Given the description of an element on the screen output the (x, y) to click on. 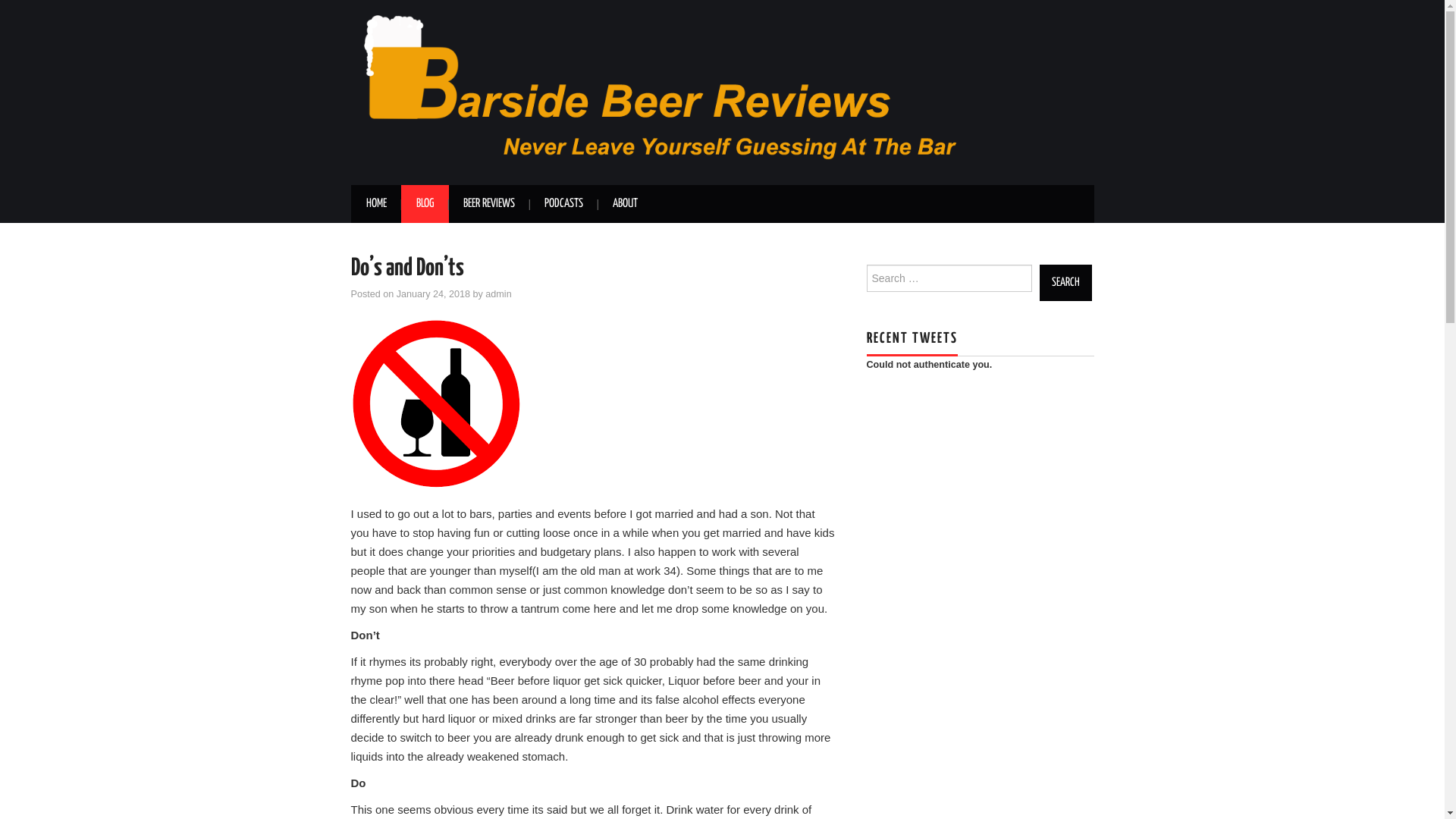
BLOG Element type: text (424, 203)
admin Element type: text (498, 293)
HOME Element type: text (375, 203)
January 24, 2018 Element type: text (433, 293)
Search Element type: text (1064, 282)
PODCASTS Element type: text (563, 203)
ABOUT Element type: text (624, 203)
Search for: Element type: hover (948, 277)
Barside Beer Reviews Element type: hover (721, 91)
BEER REVIEWS Element type: text (488, 203)
